Given the description of an element on the screen output the (x, y) to click on. 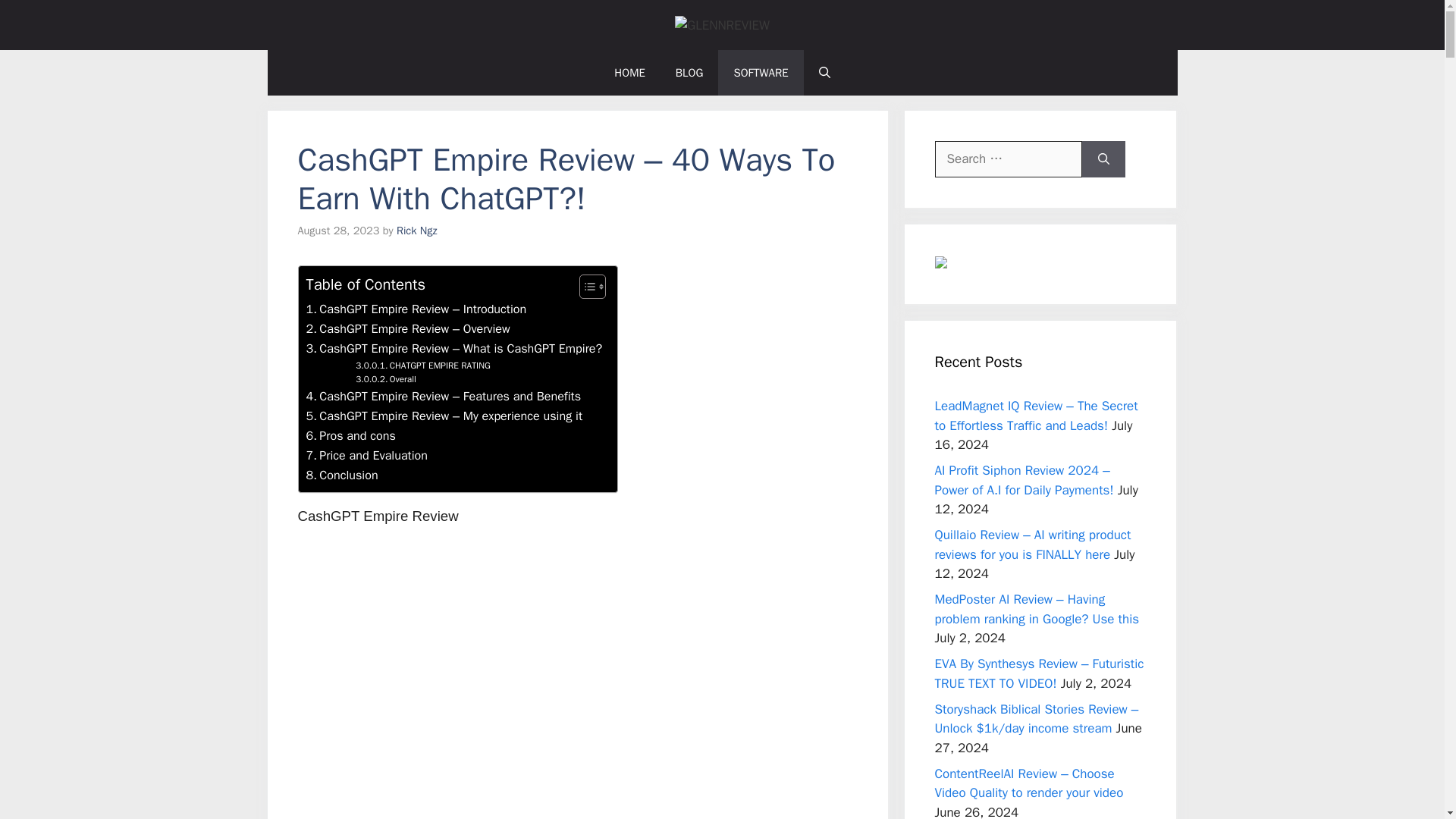
Pros and cons (422, 365)
HOME (350, 435)
Rick Ngz (628, 72)
Price and Evaluation (417, 230)
Overall  (366, 455)
Overall (385, 379)
BLOG (385, 379)
SOFTWARE (690, 72)
Conclusion (760, 72)
CHATGPT EMPIRE RATING (341, 475)
source: imgur.com (422, 365)
Pros and cons (577, 683)
View all posts by Rick Ngz (350, 435)
Conclusion (417, 230)
